Given the description of an element on the screen output the (x, y) to click on. 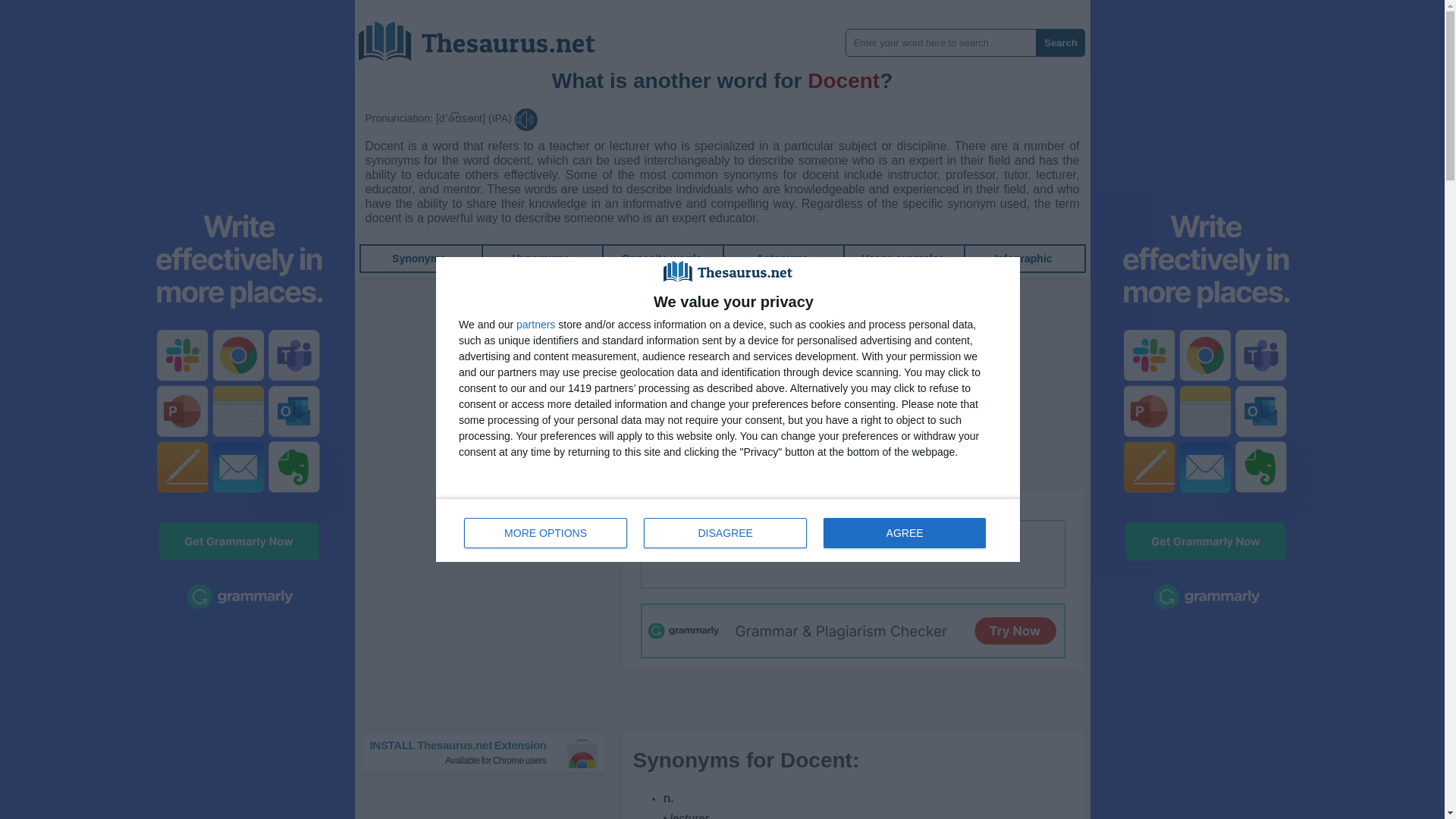
Antonyms (727, 529)
Synonyms (781, 258)
MORE OPTIONS (418, 258)
Antonyms (545, 532)
click here (781, 258)
Usage examples (875, 504)
Hypernyms (902, 258)
Synonyms (540, 258)
partners (418, 258)
